Given the description of an element on the screen output the (x, y) to click on. 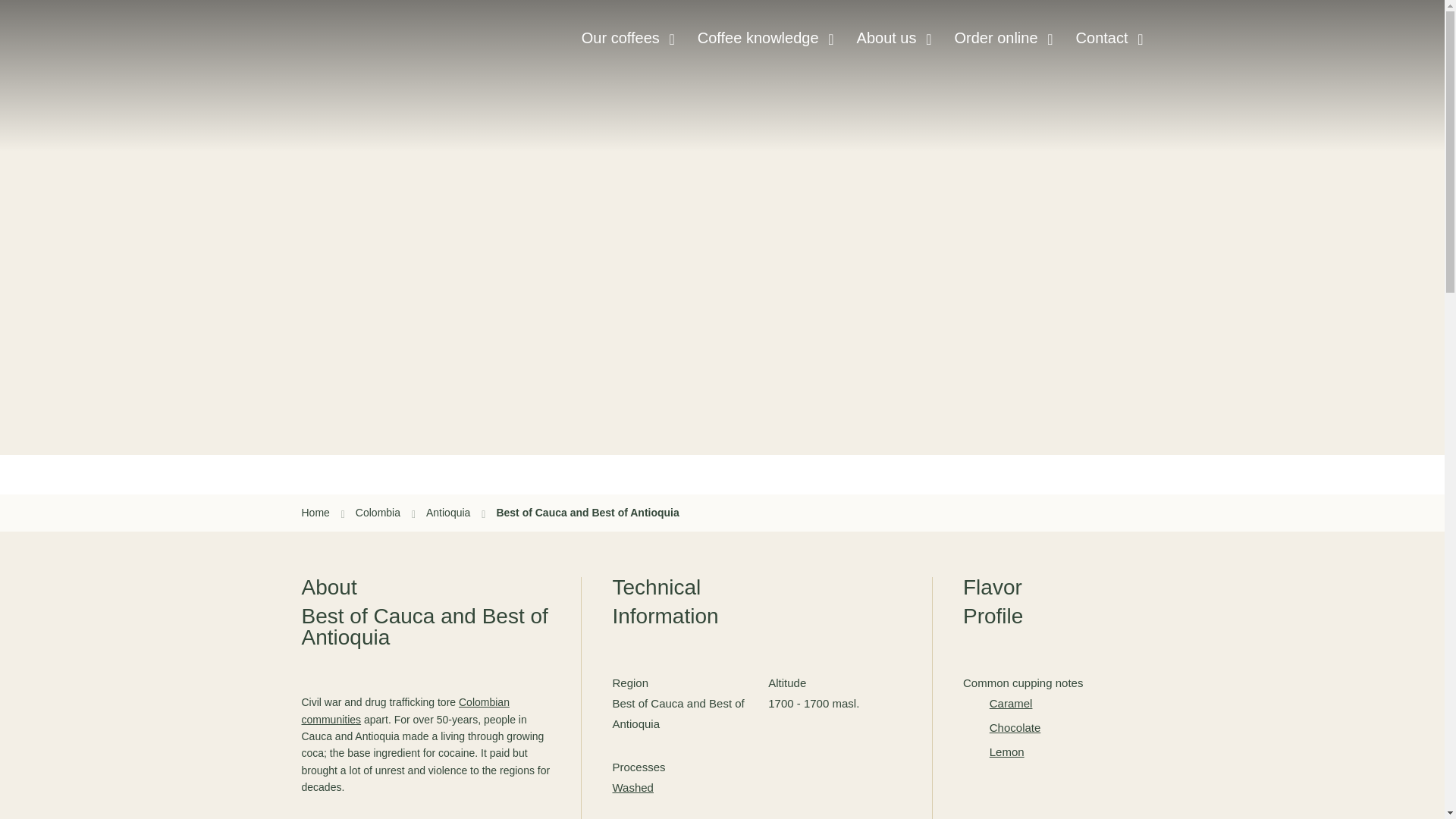
Chocolate (1066, 727)
Caramel (1066, 702)
Washed (631, 787)
Lemon (1066, 752)
Colombian communities (405, 710)
Our coffees (619, 38)
Washed (631, 787)
Antioquia (455, 512)
Coffee knowledge (757, 38)
Order online (994, 38)
